Given the description of an element on the screen output the (x, y) to click on. 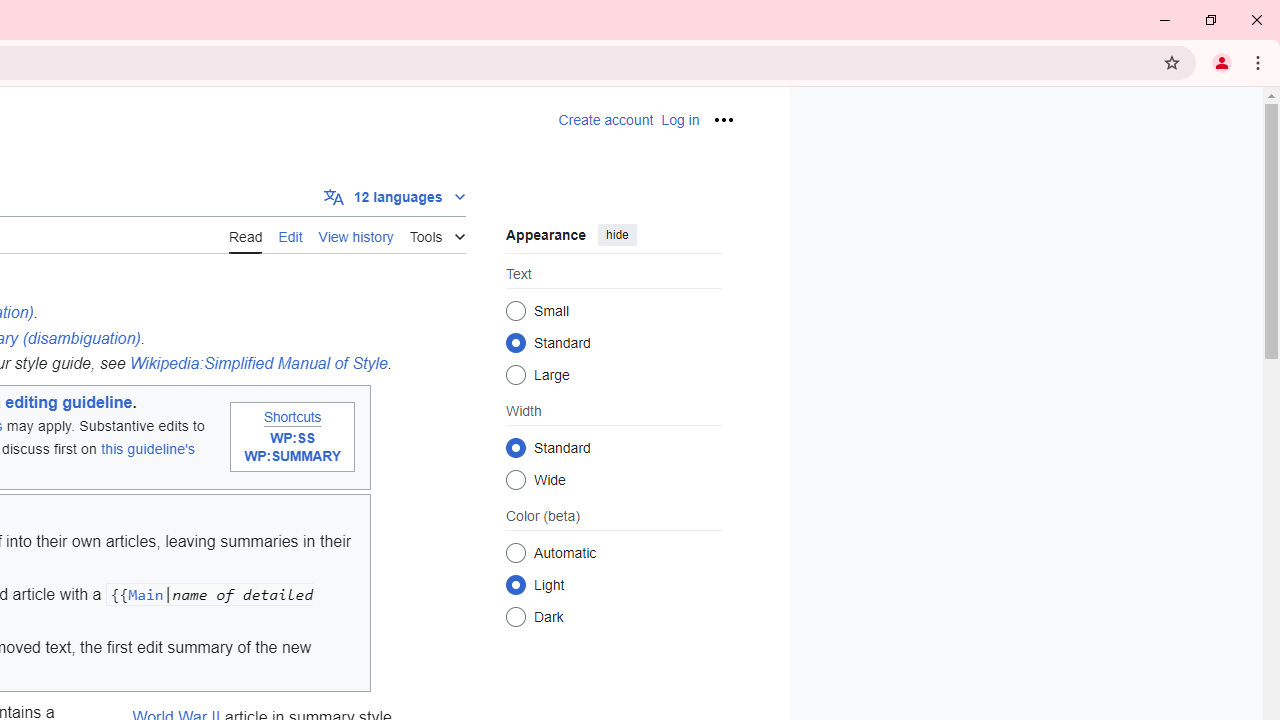
WP:SS (292, 439)
Shortcuts (292, 416)
hide (616, 234)
Wide (515, 479)
Main (145, 593)
Read (245, 235)
Large (515, 374)
AutomationID: ca-view (245, 234)
Create account (606, 120)
Automatic (515, 552)
AutomationID: pt-login-2 (680, 120)
Tools (437, 233)
View history (355, 235)
Dark (515, 616)
